Given the description of an element on the screen output the (x, y) to click on. 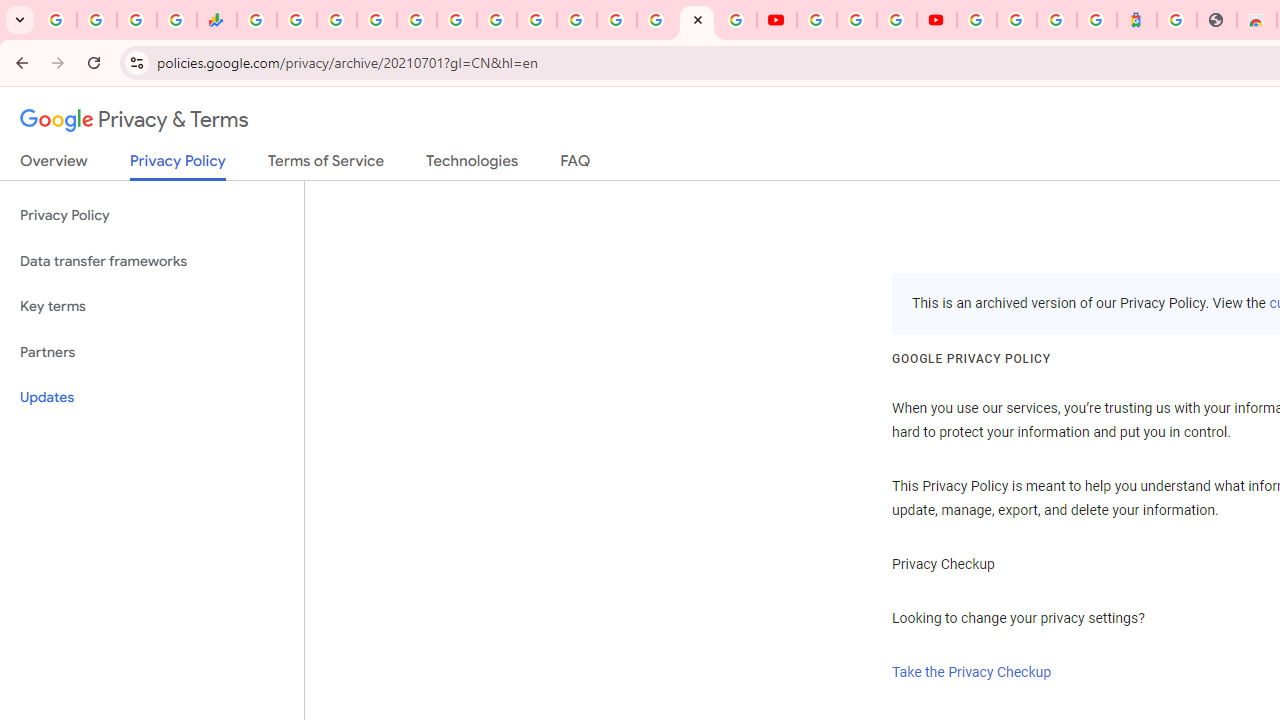
Privacy Checkup (736, 20)
Sign in - Google Accounts (1016, 20)
Google Workspace Admin Community (56, 20)
YouTube (817, 20)
Sign in - Google Accounts (977, 20)
Content Creator Programs & Opportunities - YouTube Creators (936, 20)
